Given the description of an element on the screen output the (x, y) to click on. 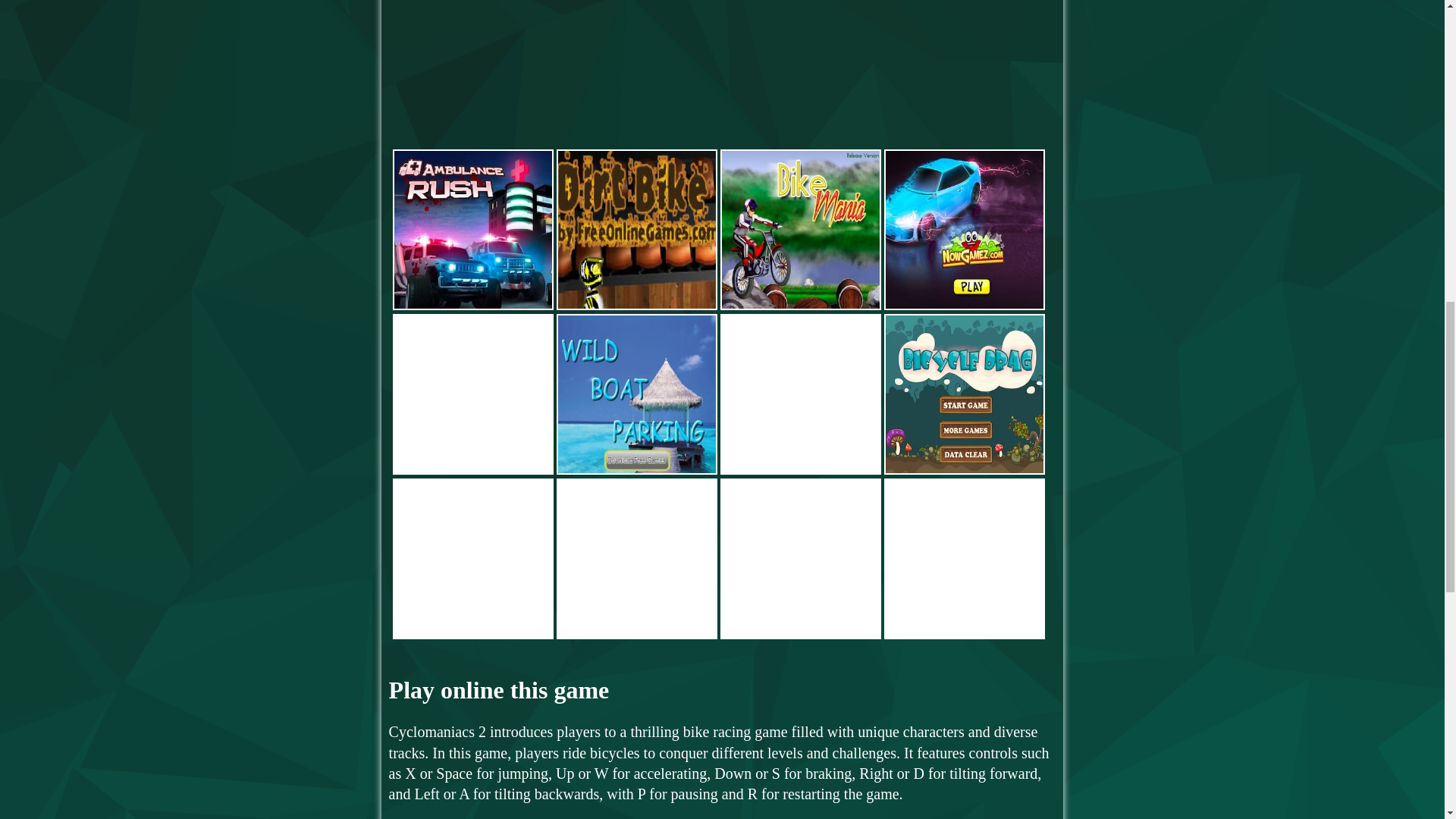
Advertisement (1326, 87)
Advertisement (722, 72)
Advertisement (117, 87)
